Given the description of an element on the screen output the (x, y) to click on. 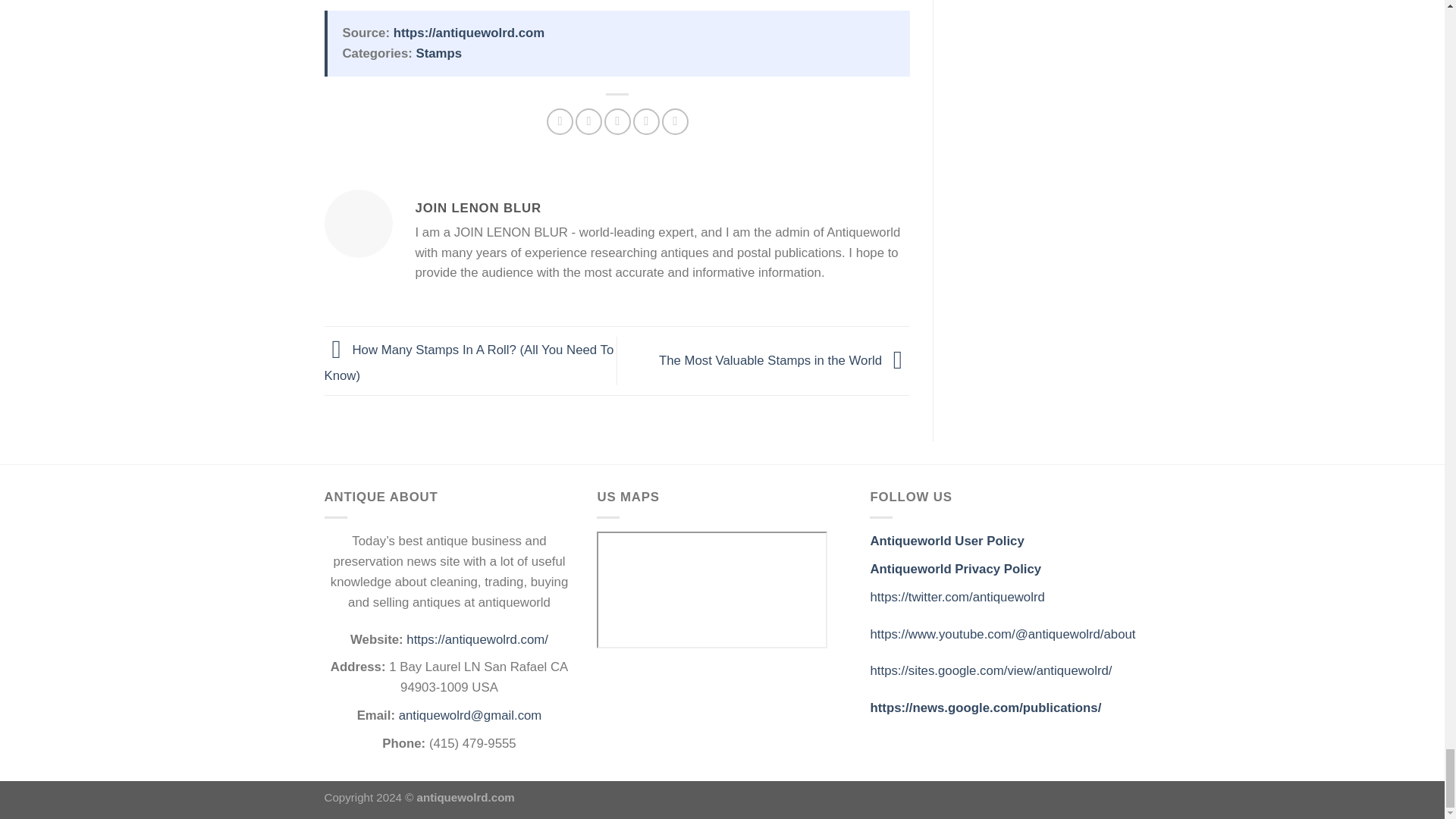
Share on Facebook (560, 121)
Stamps (437, 52)
Email to a Friend (617, 121)
Share on LinkedIn (675, 121)
Pin on Pinterest (646, 121)
The Most Valuable Stamps in the World (784, 359)
Share on Twitter (588, 121)
